Given the description of an element on the screen output the (x, y) to click on. 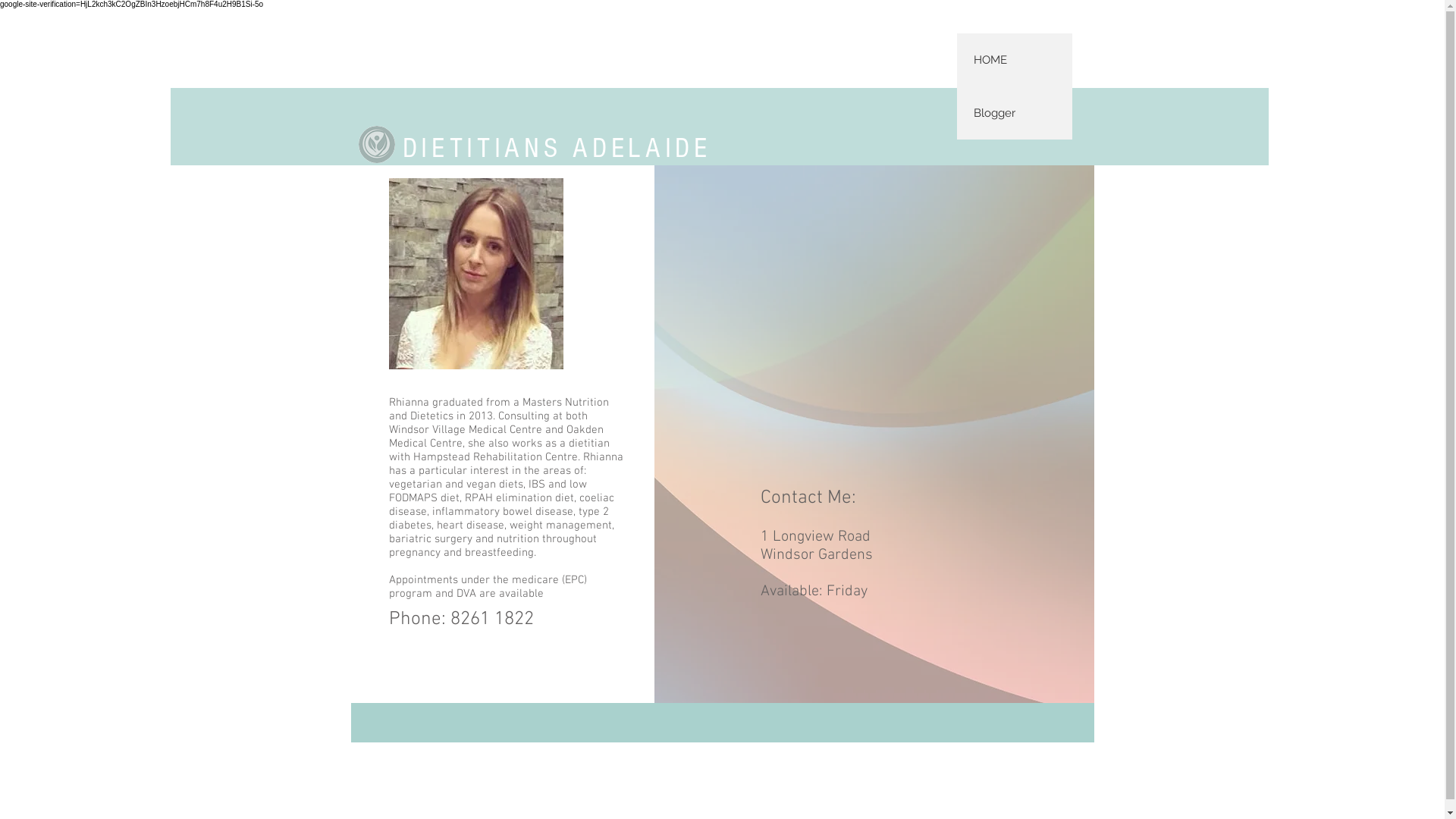
HOME Element type: text (1014, 59)
Google Maps Element type: hover (873, 344)
Blogger Element type: text (1014, 112)
DIETITIANS ADELAIDE Element type: text (555, 147)
